Given the description of an element on the screen output the (x, y) to click on. 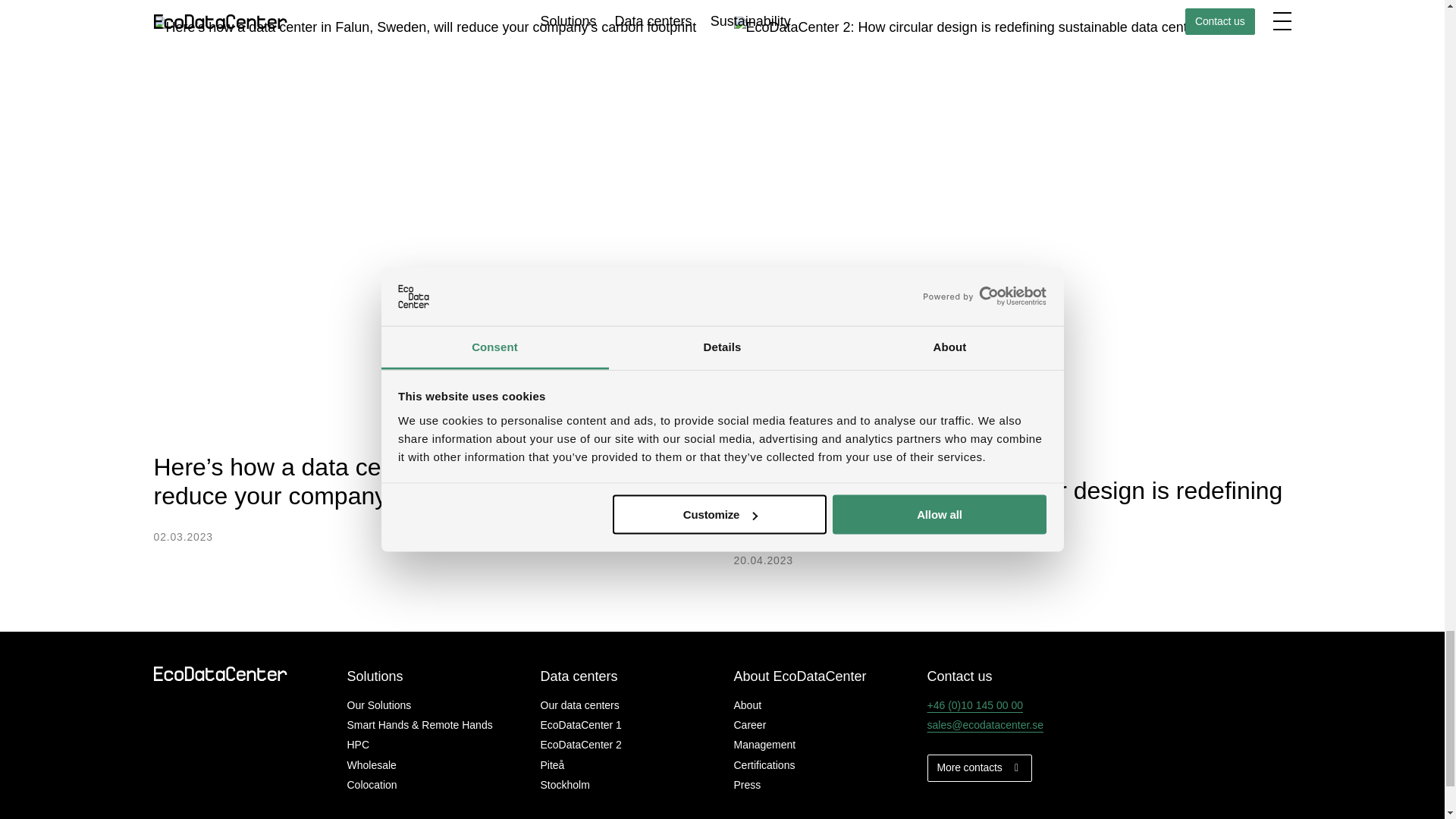
EcoDataCenter (224, 673)
